Given the description of an element on the screen output the (x, y) to click on. 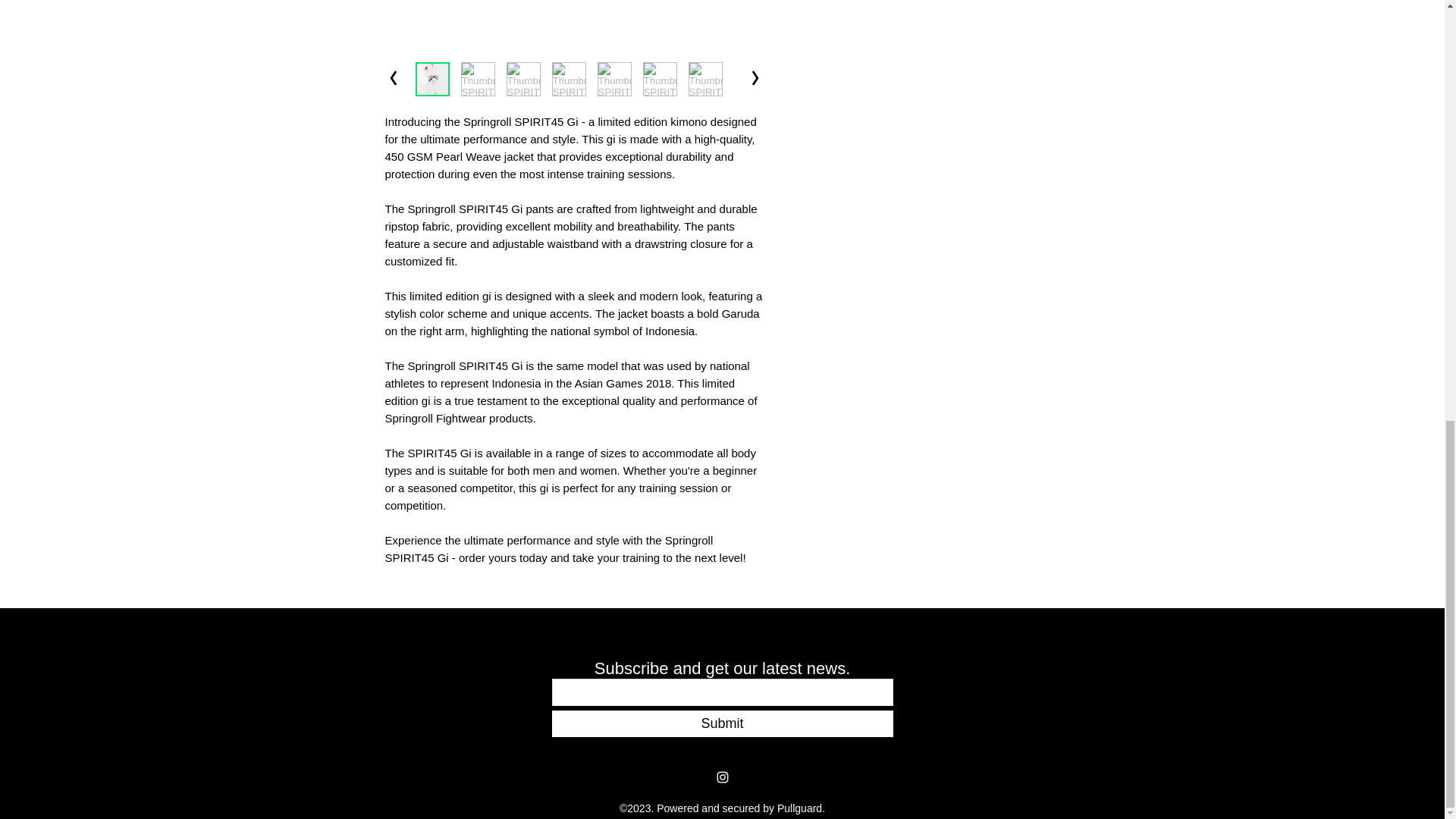
Submit (722, 723)
